Given the description of an element on the screen output the (x, y) to click on. 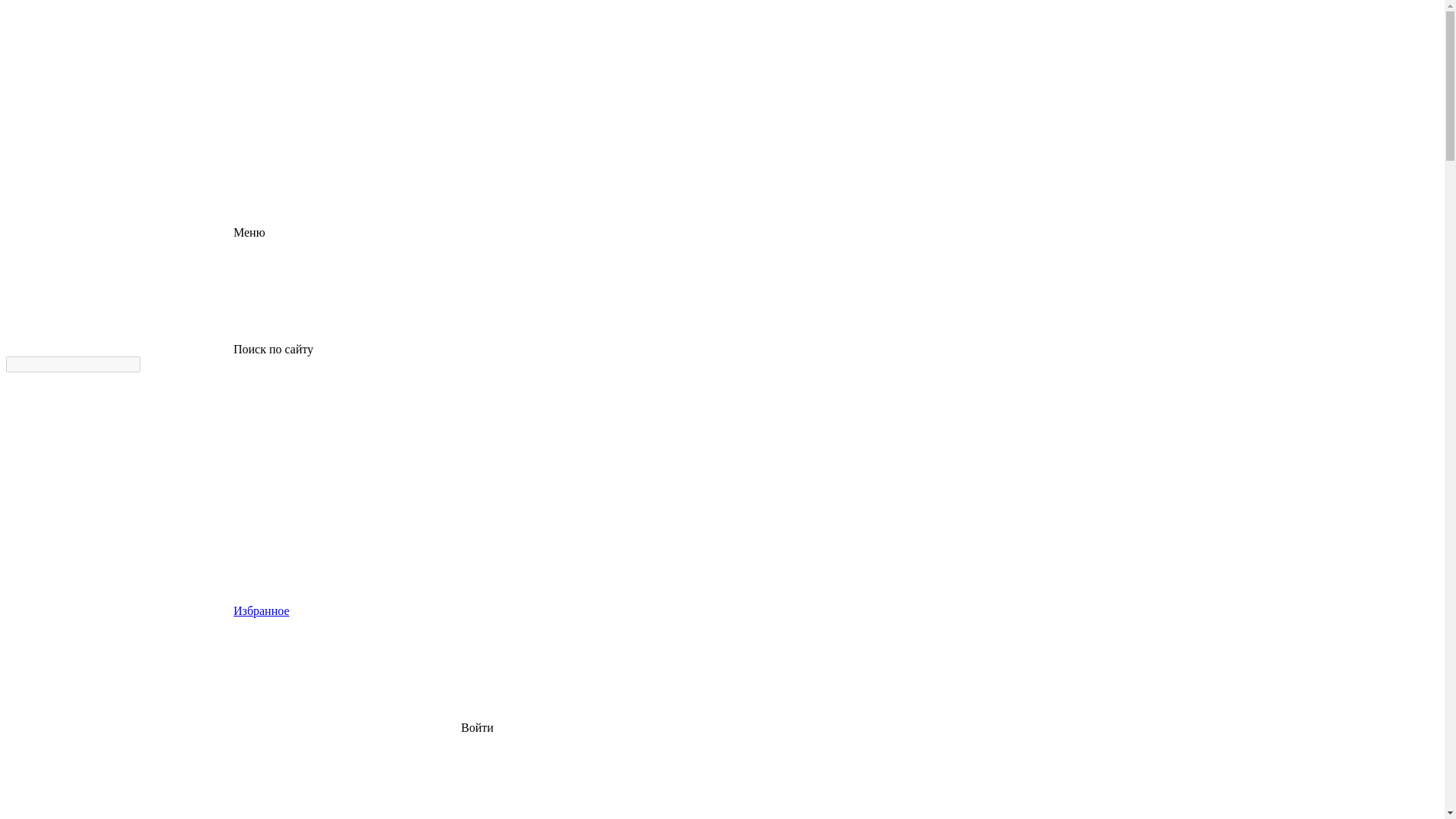
logo Element type: hover (119, 62)
logo Element type: hover (119, 115)
